Given the description of an element on the screen output the (x, y) to click on. 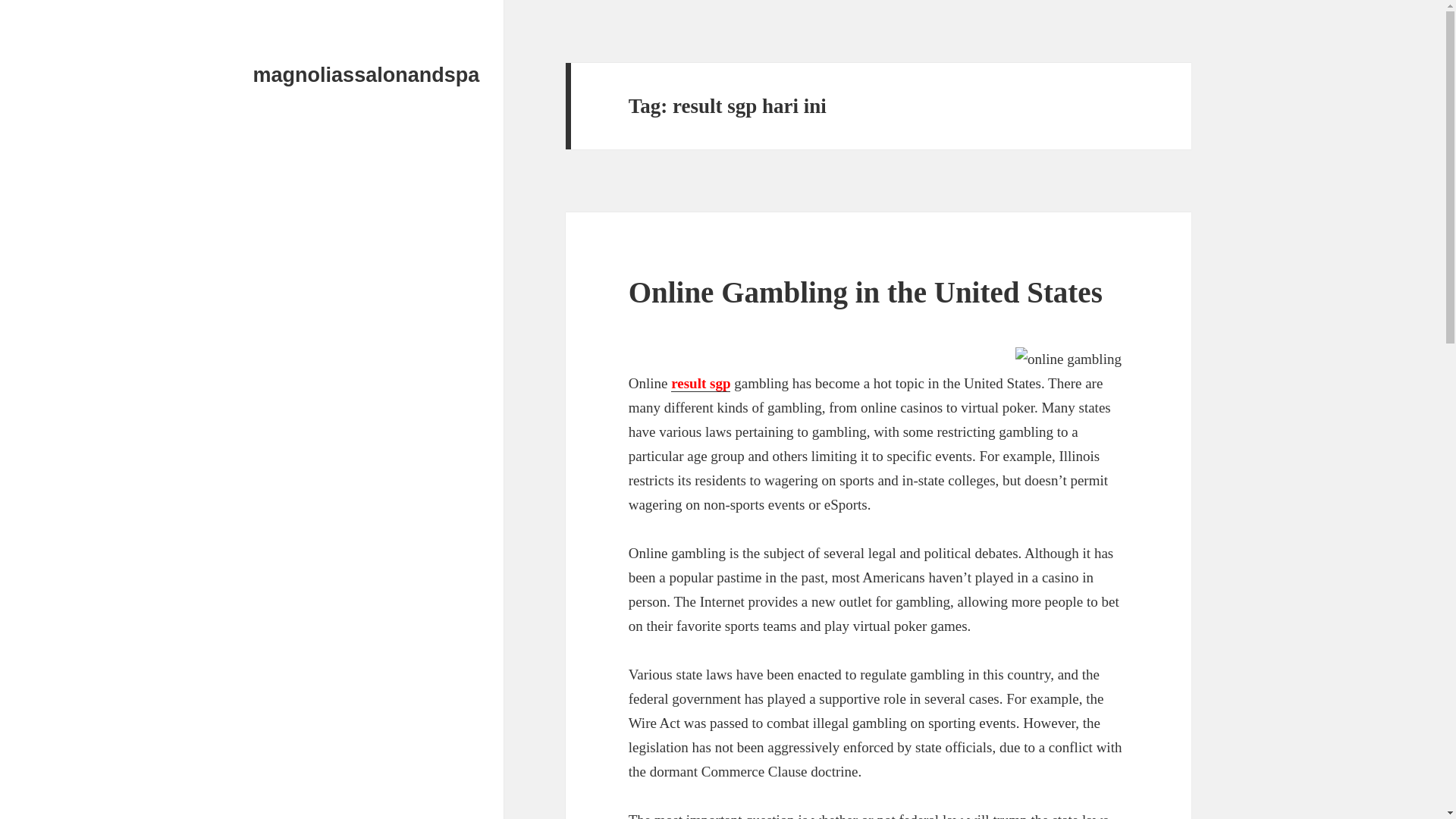
result sgp (700, 383)
Online Gambling in the United States (865, 292)
magnoliassalonandspa (366, 74)
